Given the description of an element on the screen output the (x, y) to click on. 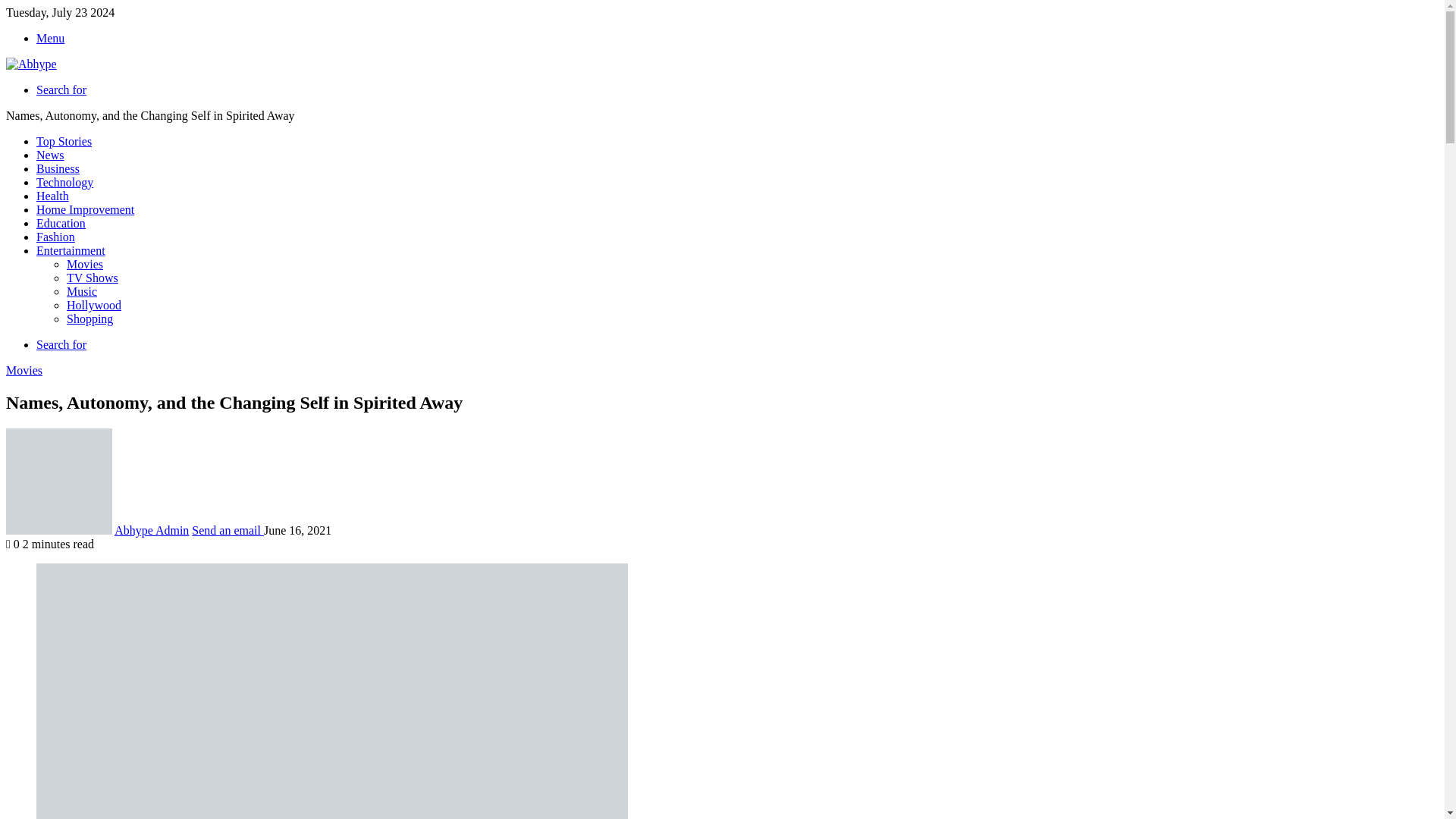
Abhype (30, 63)
Abhype Admin (152, 530)
Menu (50, 38)
Home Improvement (84, 209)
Business (58, 168)
Search for (60, 344)
Abhype Admin (152, 530)
Send an email (227, 530)
News (50, 154)
TV Shows (91, 277)
Movies (23, 369)
Hollywood (93, 305)
Health (52, 195)
Fashion (55, 236)
Movies (84, 264)
